Given the description of an element on the screen output the (x, y) to click on. 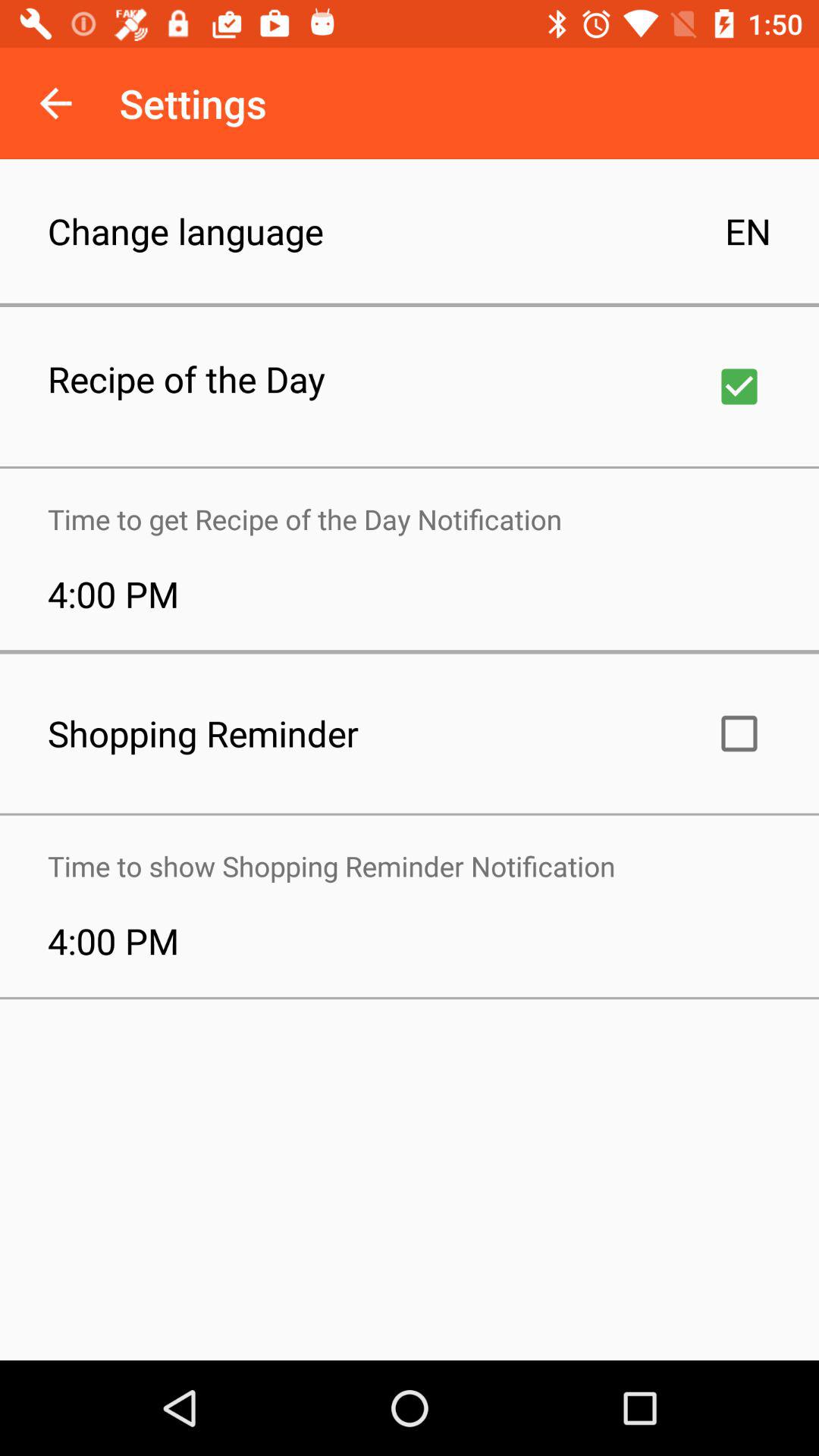
switch shopping reminder setting (739, 733)
